Given the description of an element on the screen output the (x, y) to click on. 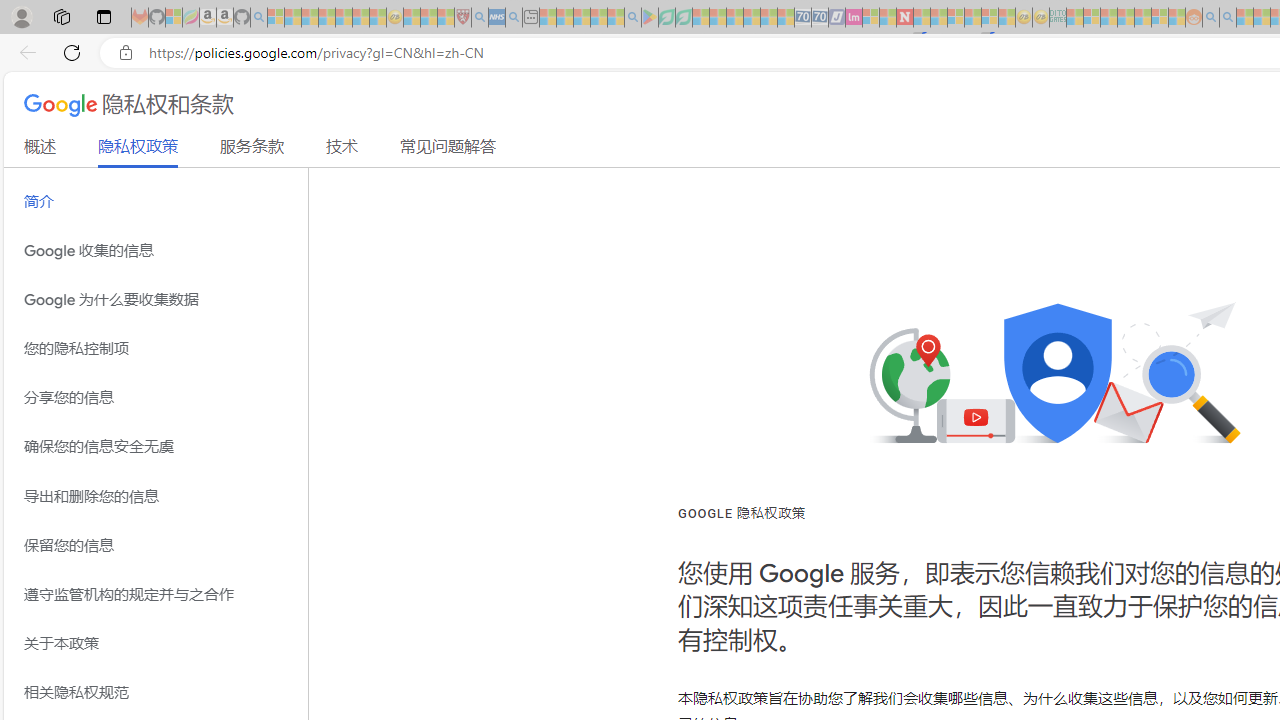
utah sues federal government - Search - Sleeping (513, 17)
The Weather Channel - MSN - Sleeping (309, 17)
Utah sues federal government - Search - Sleeping (1227, 17)
